Given the description of an element on the screen output the (x, y) to click on. 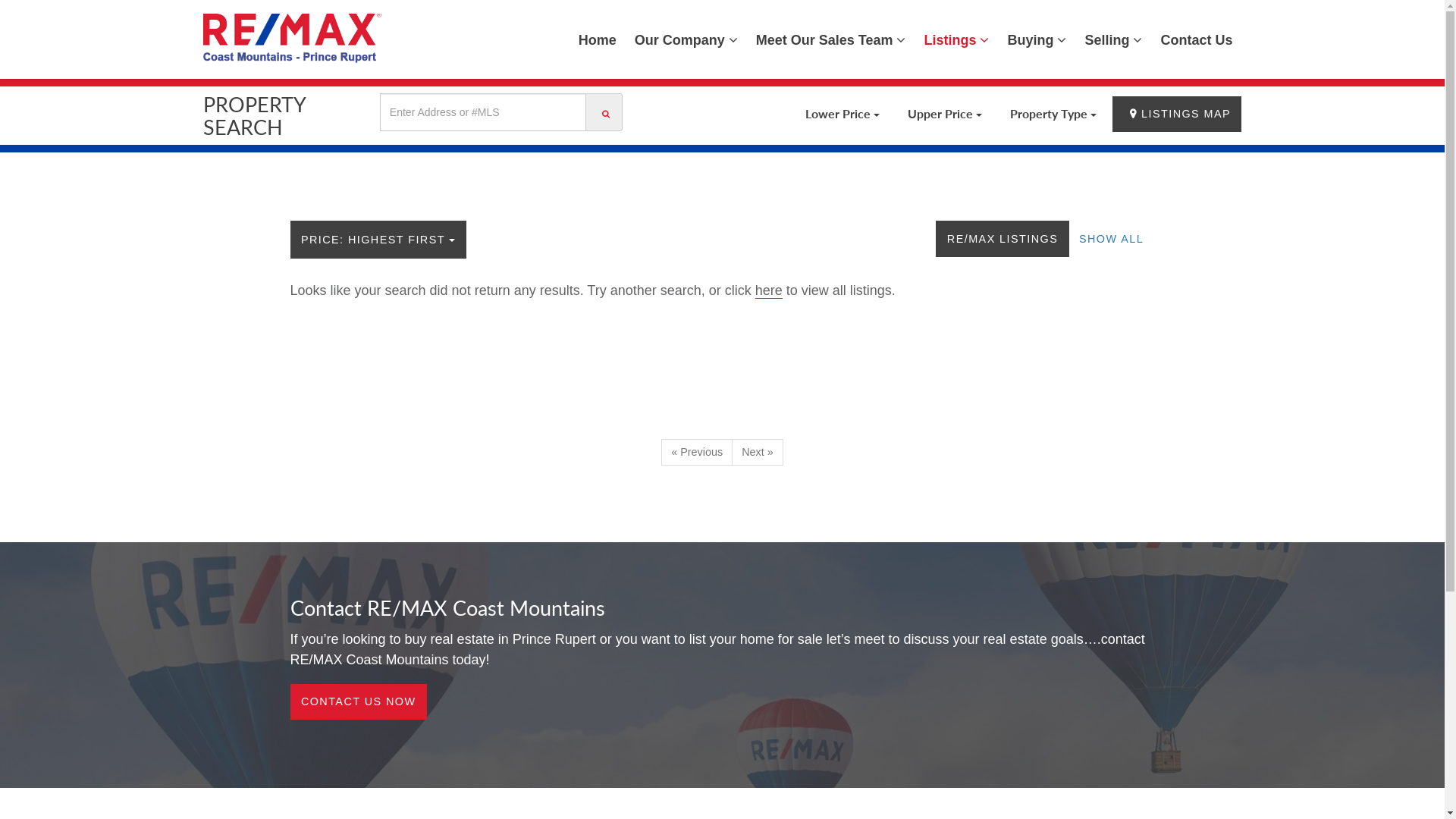
Property Type Element type: text (1052, 113)
Remax Prince Rupert Element type: hover (292, 37)
LISTINGS MAP Element type: text (1177, 113)
here Element type: text (768, 290)
Listings Element type: text (955, 39)
Our Company Element type: text (685, 39)
Upper Price Element type: text (944, 113)
RE/MAX LISTINGS Element type: text (1001, 238)
Buying Element type: text (1036, 39)
Meet Our Sales Team Element type: text (830, 39)
Selling Element type: text (1113, 39)
PRICE: HIGHEST FIRST Element type: text (377, 238)
Contact Us Element type: text (1196, 39)
Home Element type: text (597, 39)
SHOW ALL Element type: text (1111, 238)
CONTACT US NOW Element type: text (357, 701)
Lower Price Element type: text (842, 113)
